Given the description of an element on the screen output the (x, y) to click on. 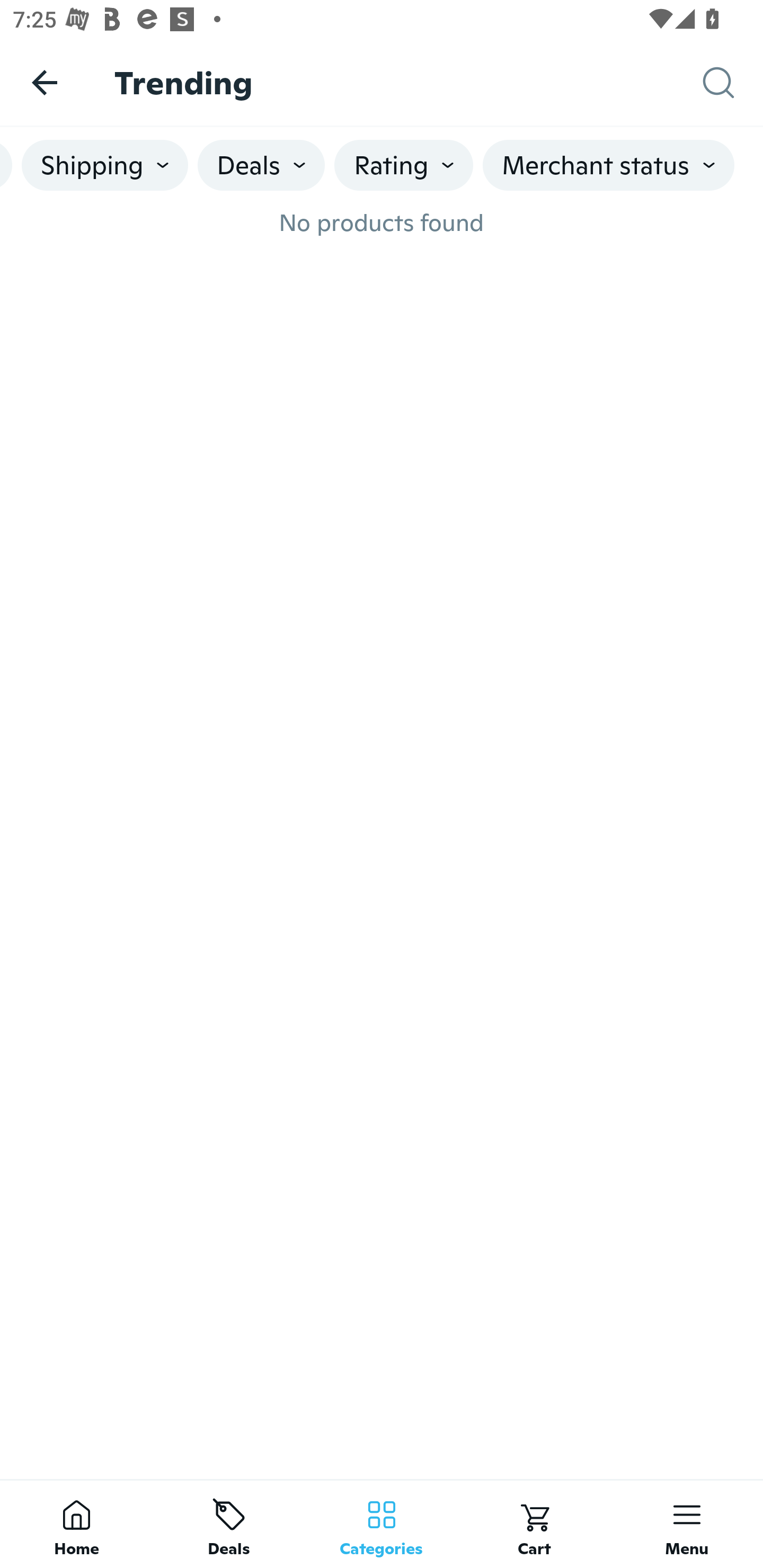
Navigate up (44, 82)
Search (732, 82)
Shipping (104, 165)
Deals (261, 165)
Rating (403, 165)
Merchant status (608, 165)
Home (76, 1523)
Deals (228, 1523)
Categories (381, 1523)
Cart (533, 1523)
Menu (686, 1523)
